Given the description of an element on the screen output the (x, y) to click on. 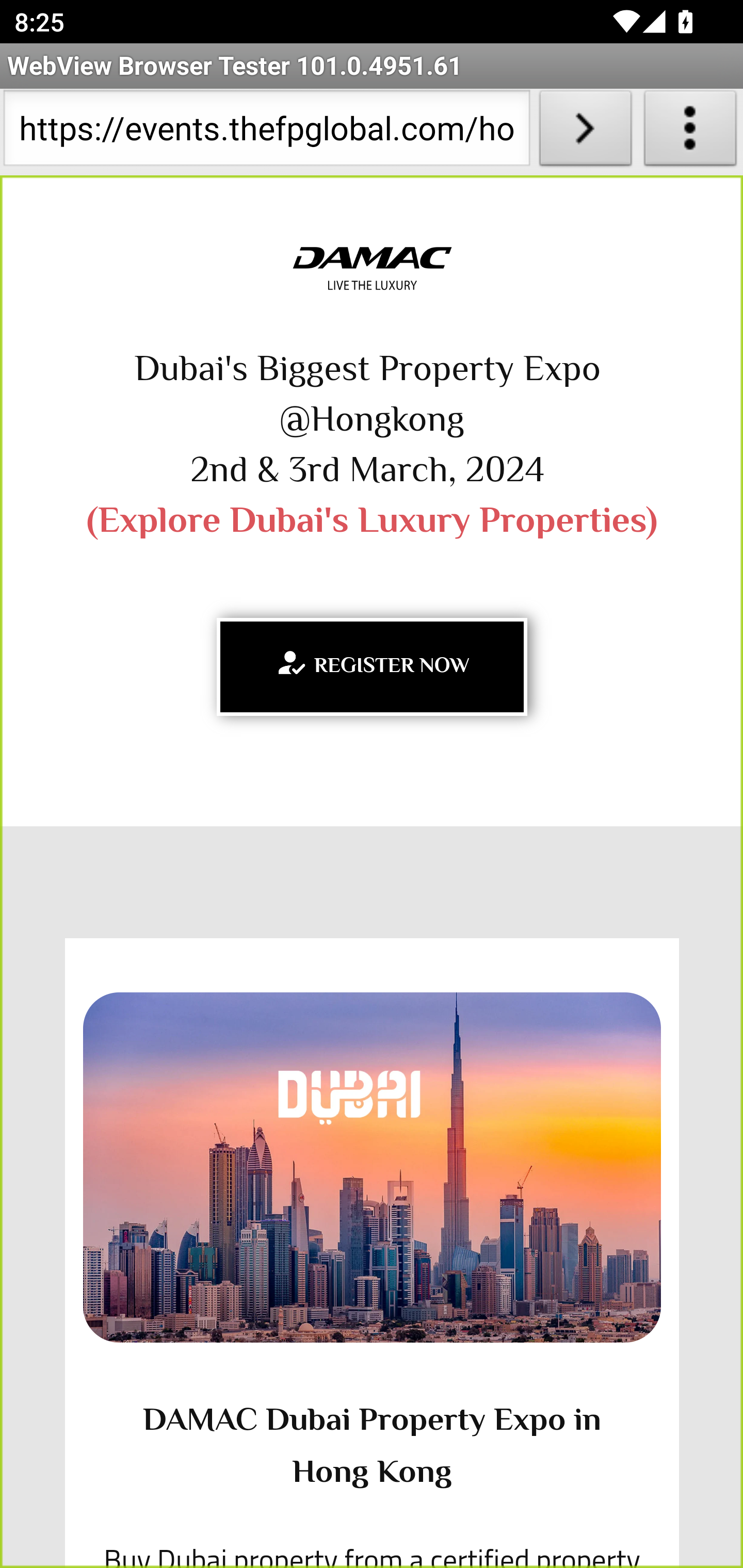
Load URL (585, 132)
About WebView (690, 132)
fp global DamacLogo1 (371, 268)
 REGISTER NOW (371, 666)
